Given the description of an element on the screen output the (x, y) to click on. 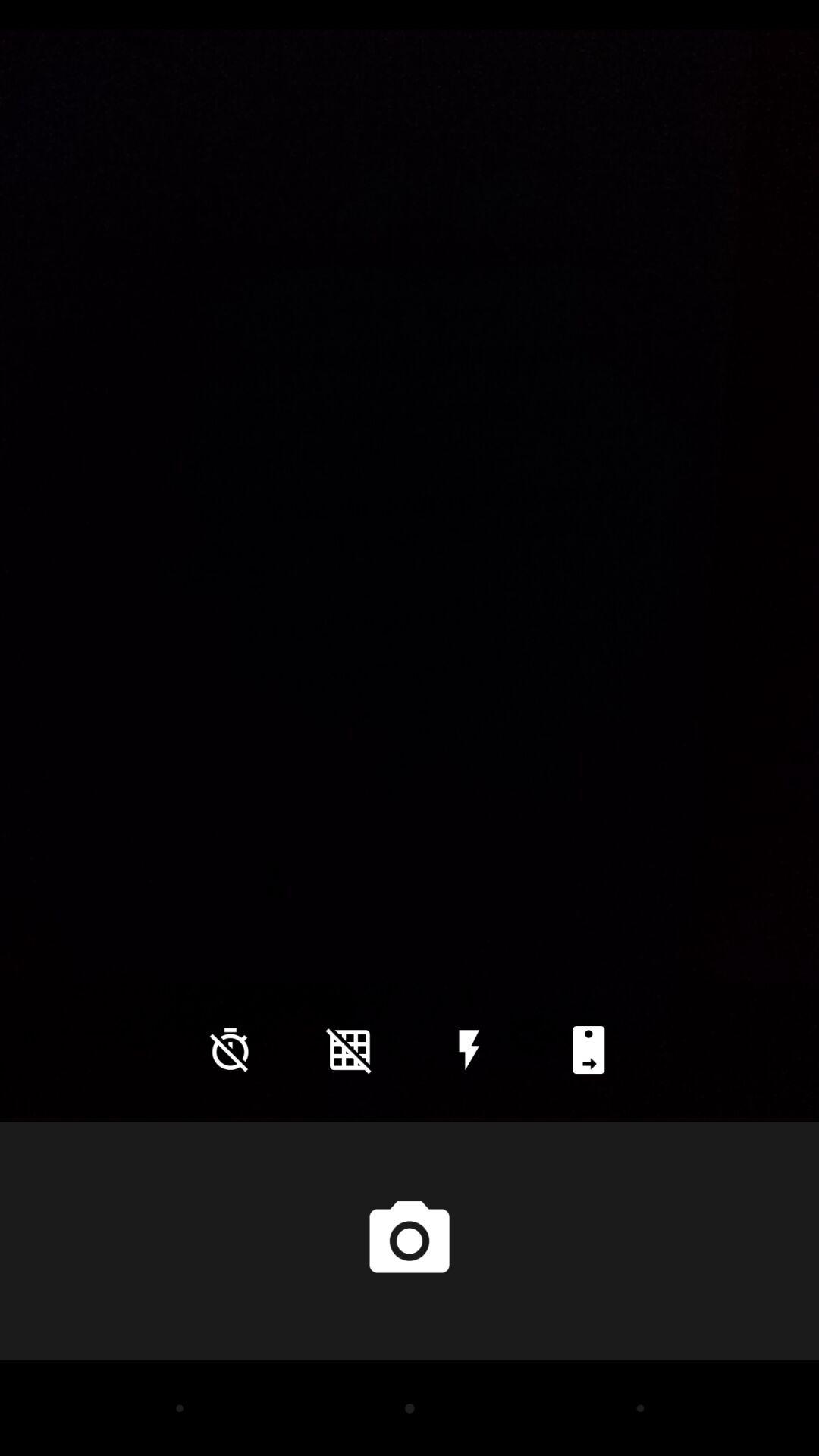
launch the icon at the bottom right corner (588, 1049)
